Given the description of an element on the screen output the (x, y) to click on. 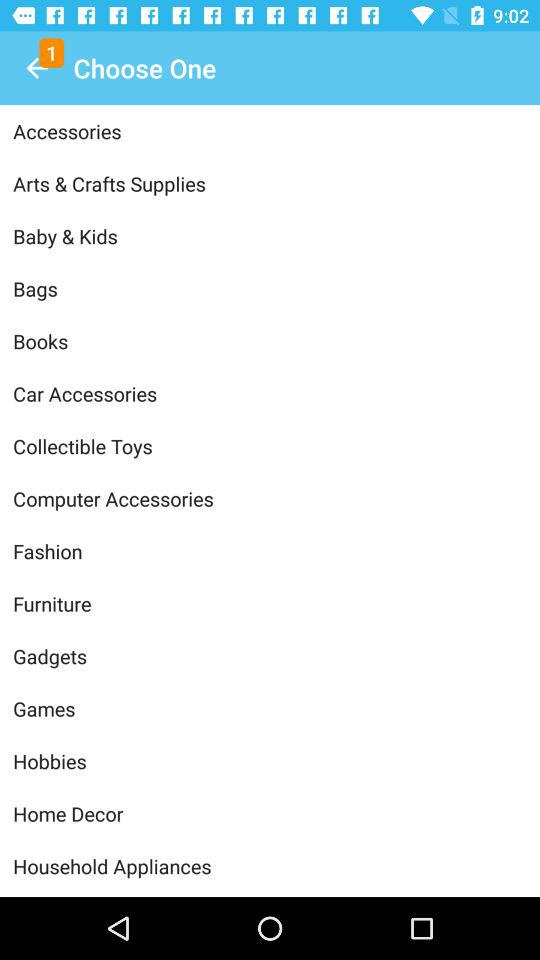
open icon below books icon (269, 393)
